Given the description of an element on the screen output the (x, y) to click on. 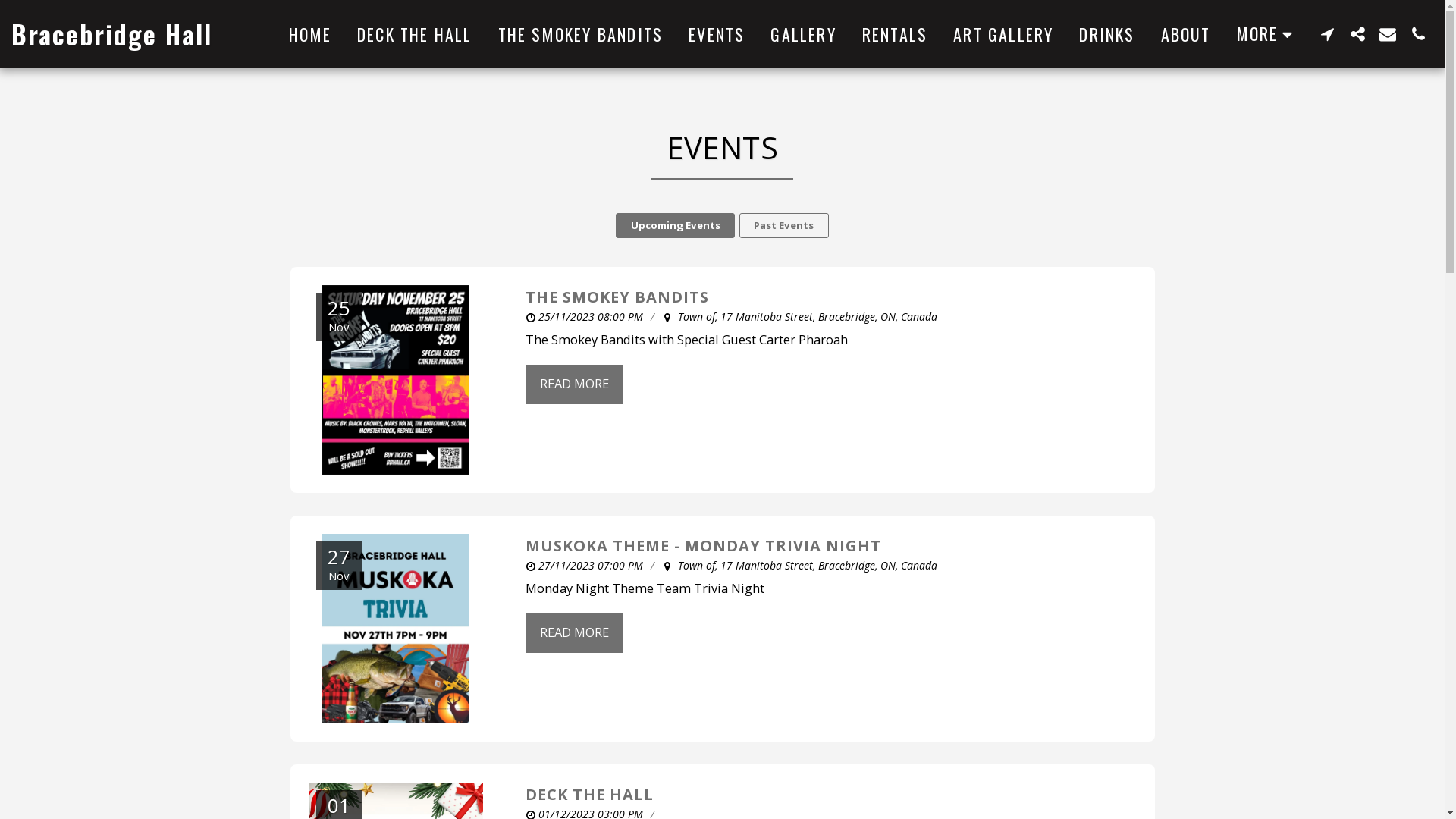
RENTALS Element type: text (894, 33)
27
Nov Element type: text (394, 628)
DECK THE HALL Element type: text (588, 794)
Upcoming Events Element type: text (674, 225)
READ MORE Element type: text (573, 632)
EVENTS Element type: text (716, 33)
ART GALLERY Element type: text (1003, 33)
MUSKOKA THEME - MONDAY TRIVIA NIGHT Element type: text (702, 545)
DRINKS Element type: text (1106, 33)
THE SMOKEY BANDITS Element type: text (580, 33)
Bracebridge Hall Element type: text (111, 34)
Past Events Element type: text (783, 225)
THE SMOKEY BANDITS Element type: text (616, 296)
READ MORE Element type: text (573, 384)
GALLERY Element type: text (802, 33)
  Element type: text (1387, 33)
ABOUT Element type: text (1185, 33)
  Element type: text (1417, 33)
MORE   Element type: text (1267, 33)
25
Nov Element type: text (394, 379)
  Element type: text (1326, 33)
HOME Element type: text (309, 33)
  Element type: text (1357, 33)
DECK THE HALL Element type: text (414, 33)
